Given the description of an element on the screen output the (x, y) to click on. 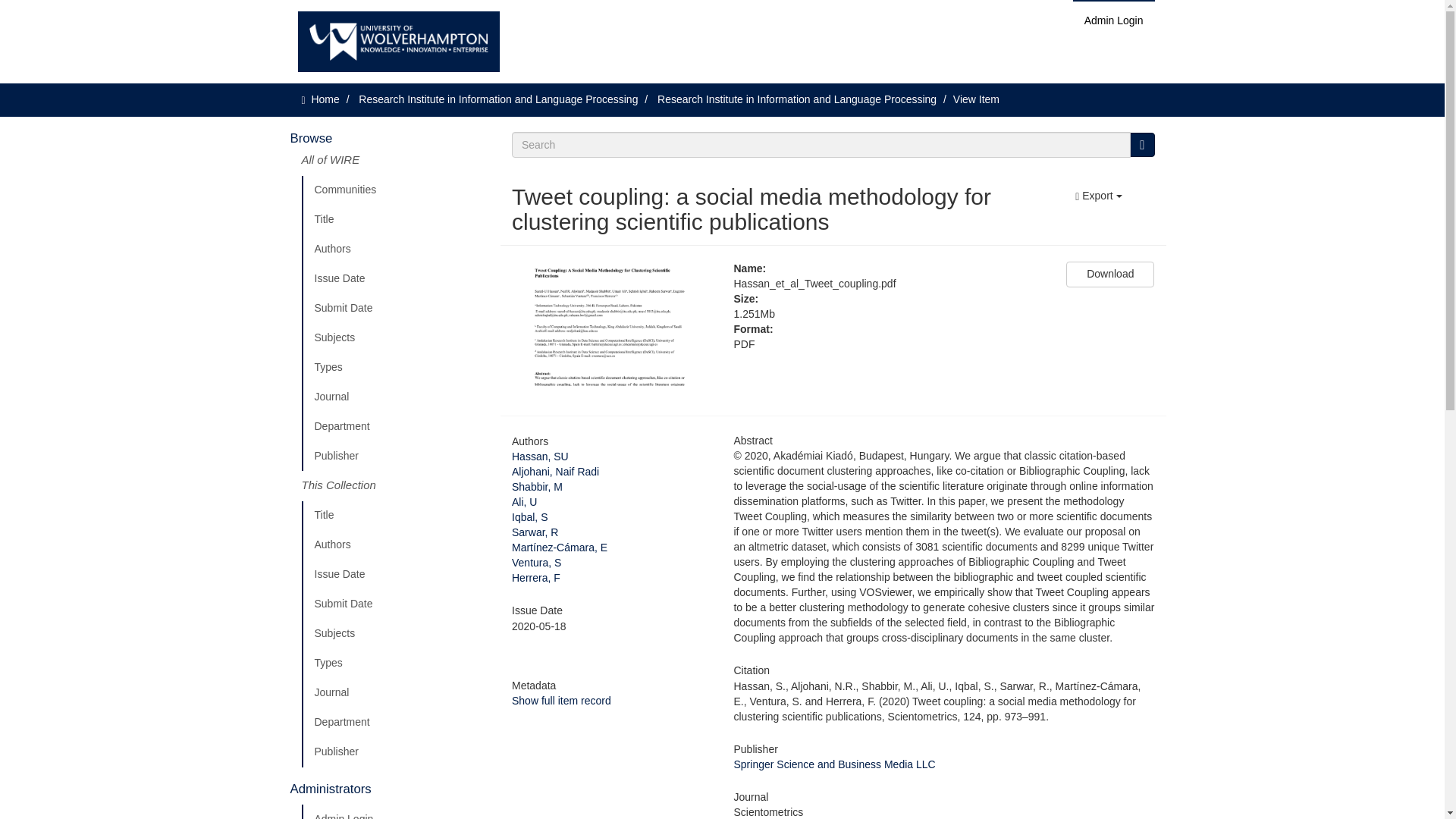
Title (395, 219)
Admin Login (395, 811)
Subjects (395, 634)
Communities (395, 190)
This Collection (395, 485)
Issue Date (395, 574)
Submit Date (395, 308)
Issue Date (395, 278)
Subjects (395, 337)
Types (395, 367)
